Given the description of an element on the screen output the (x, y) to click on. 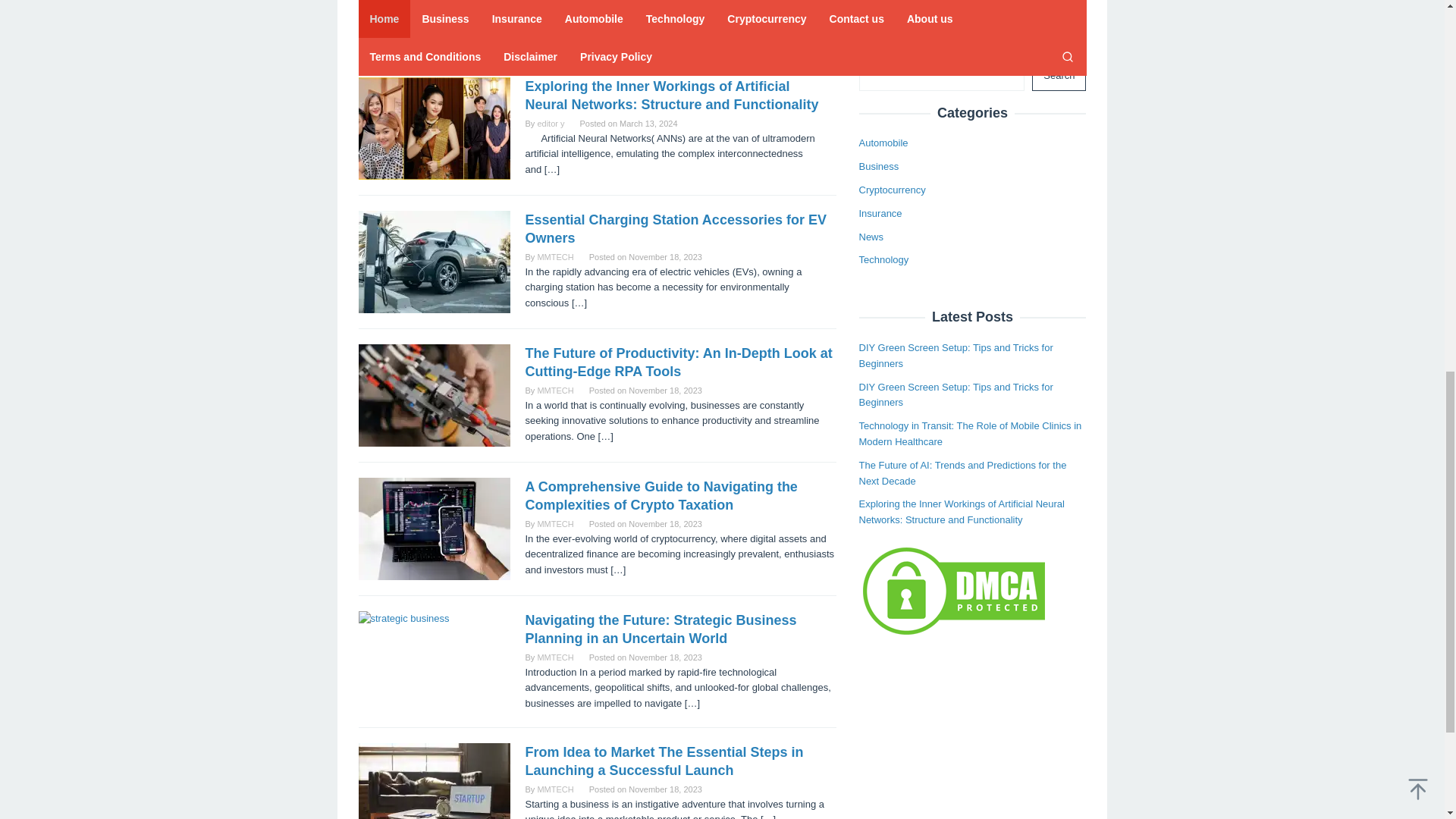
collage (433, 22)
Essential Charging Station Accessories for EV Owners (674, 228)
MMTECH (555, 256)
editor y (550, 122)
